Given the description of an element on the screen output the (x, y) to click on. 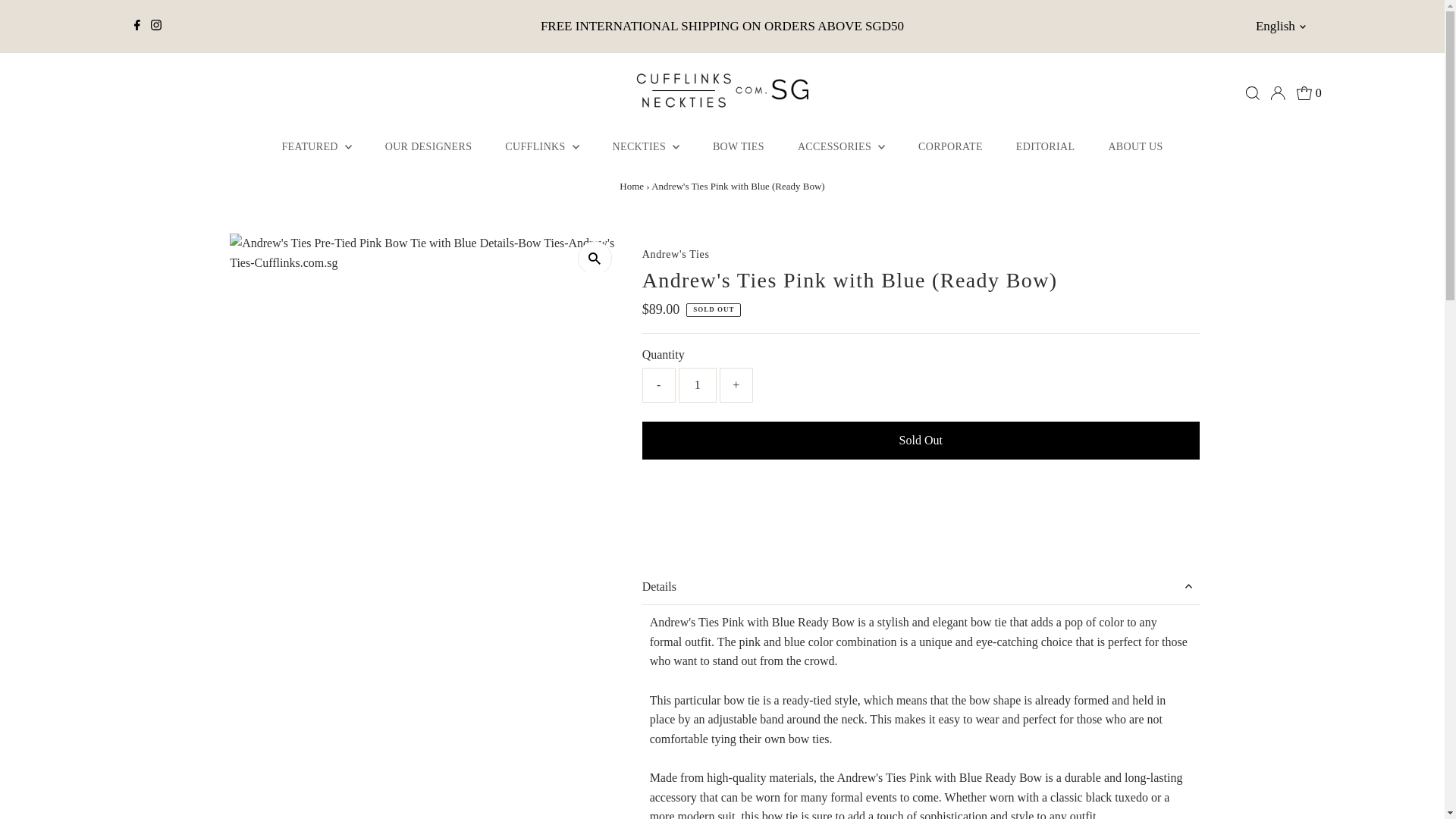
1 (697, 384)
Home (631, 185)
Sold Out (920, 440)
Click to zoom (594, 257)
